Given the description of an element on the screen output the (x, y) to click on. 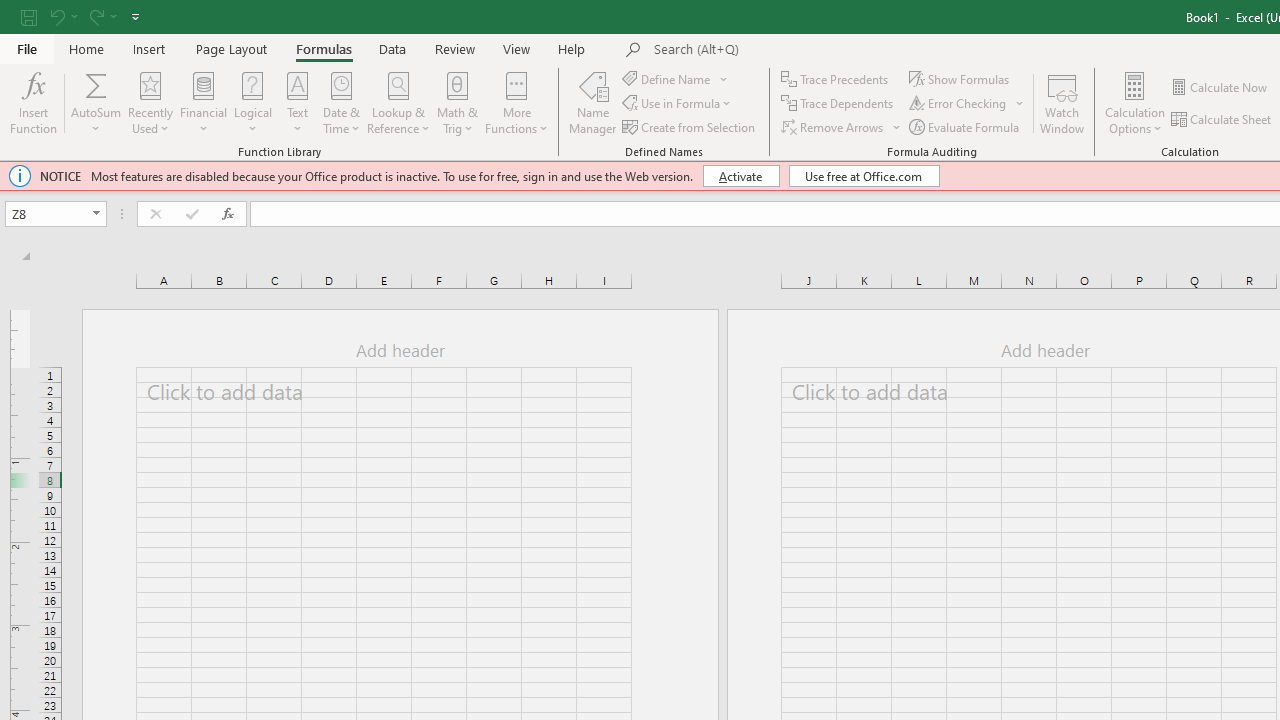
Insert Function... (33, 102)
Activate (740, 175)
Calculate Sheet (1222, 119)
Watch Window (1062, 102)
Name Manager (593, 102)
Define Name... (667, 78)
Use in Formula (678, 103)
Math & Trig (458, 102)
Define Name (676, 78)
